Given the description of an element on the screen output the (x, y) to click on. 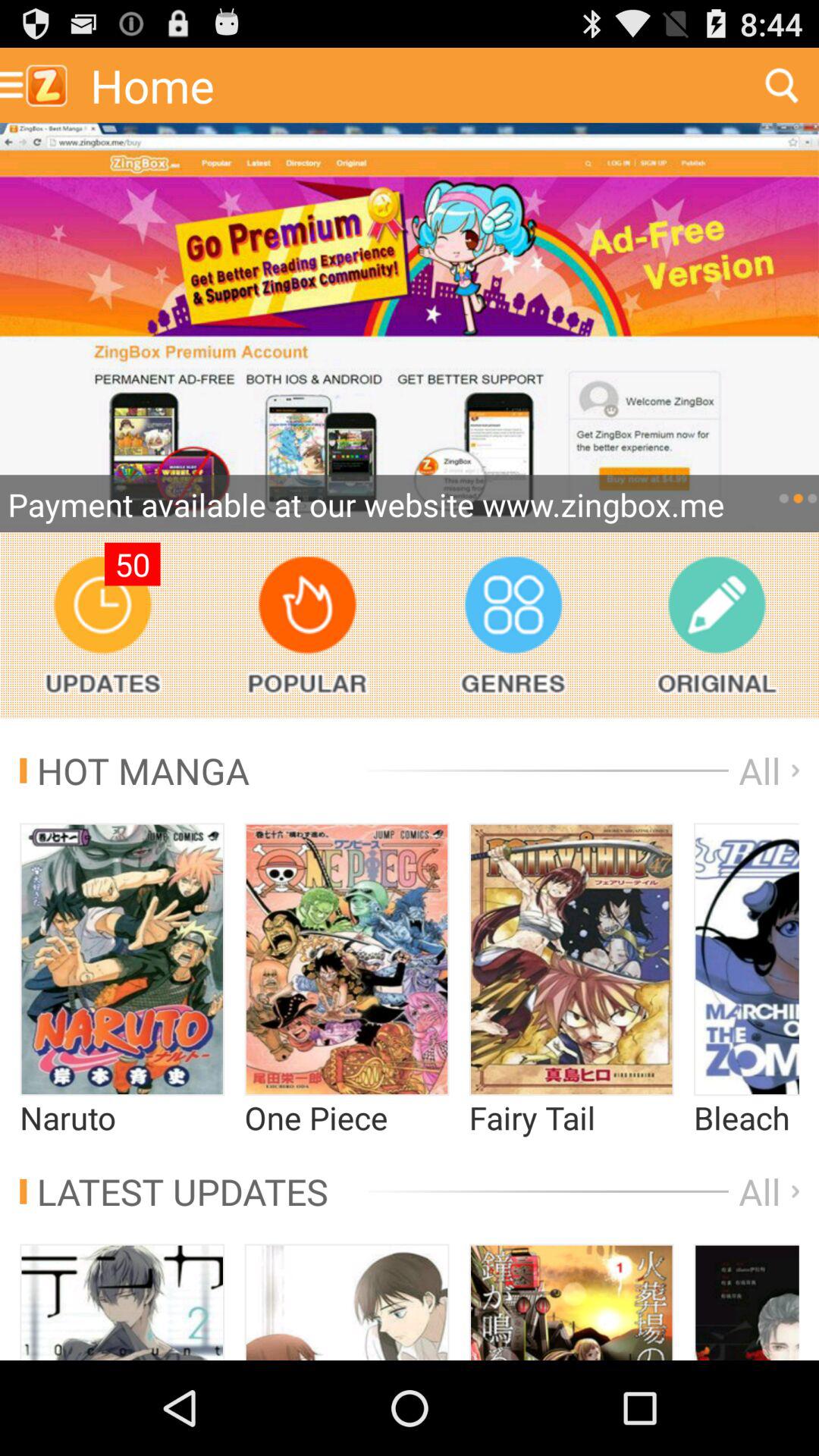
swipe to home (411, 85)
